Given the description of an element on the screen output the (x, y) to click on. 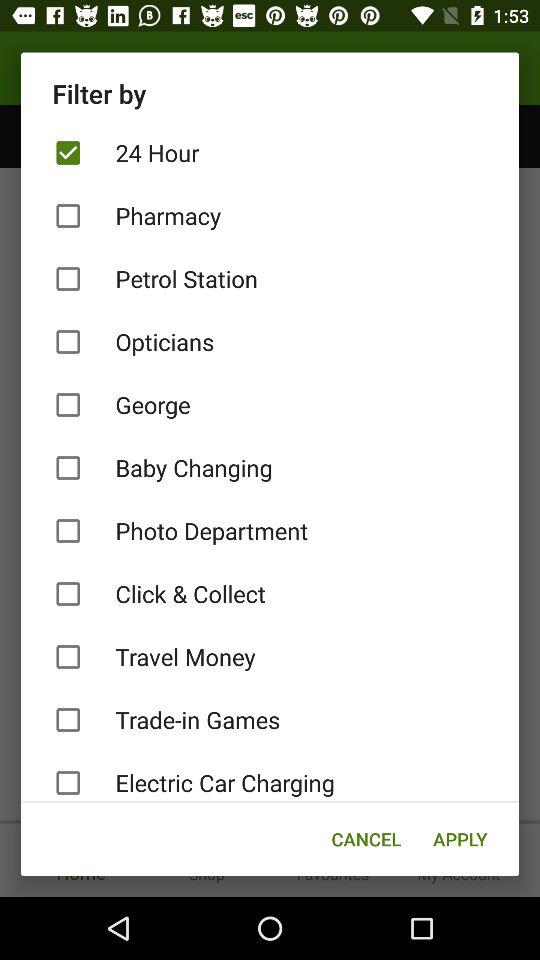
select the icon above the trade-in games icon (270, 656)
